Given the description of an element on the screen output the (x, y) to click on. 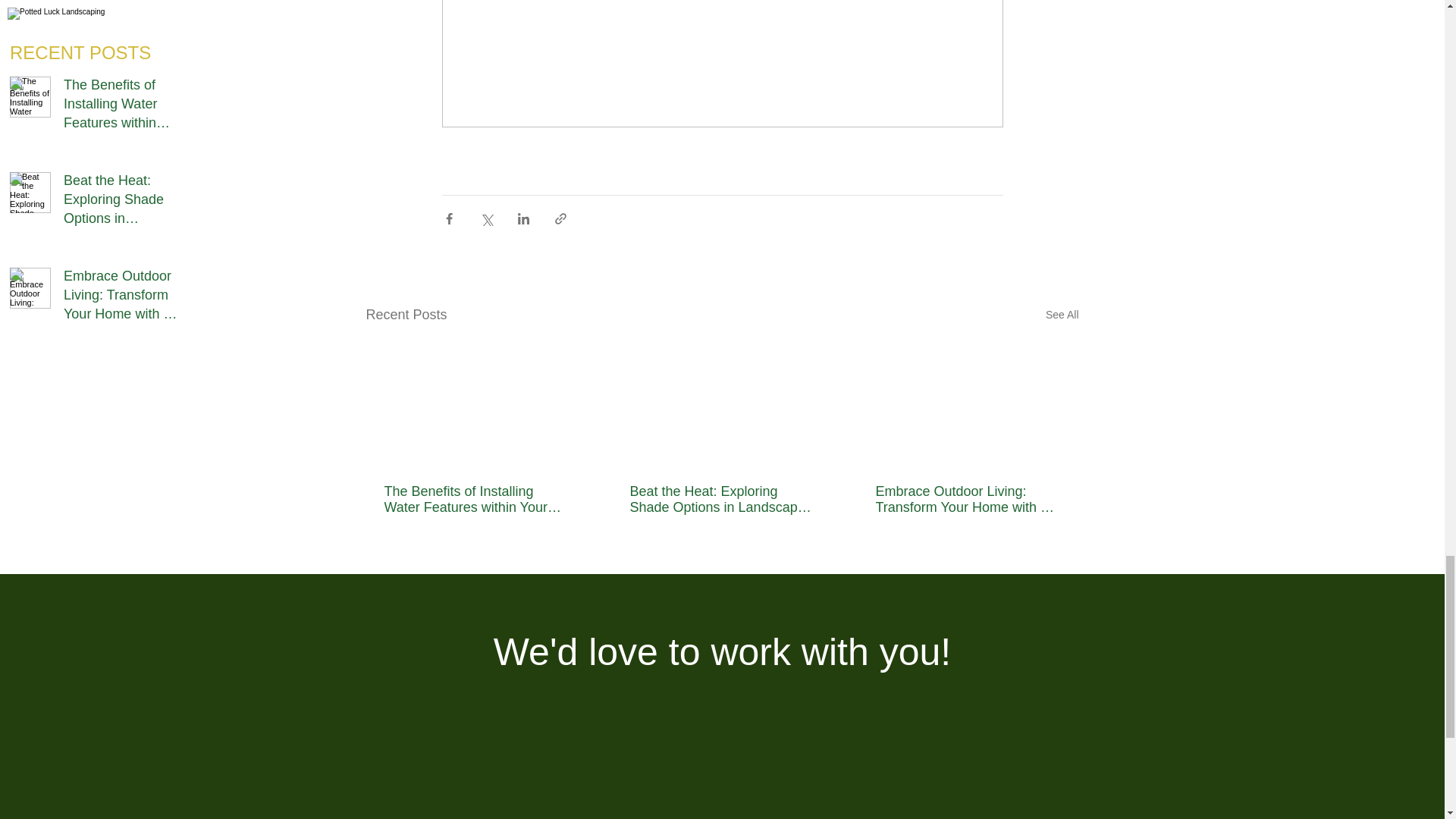
Beat the Heat: Exploring Shade Options in Landscape Design. (720, 499)
See All (1061, 314)
